Given the description of an element on the screen output the (x, y) to click on. 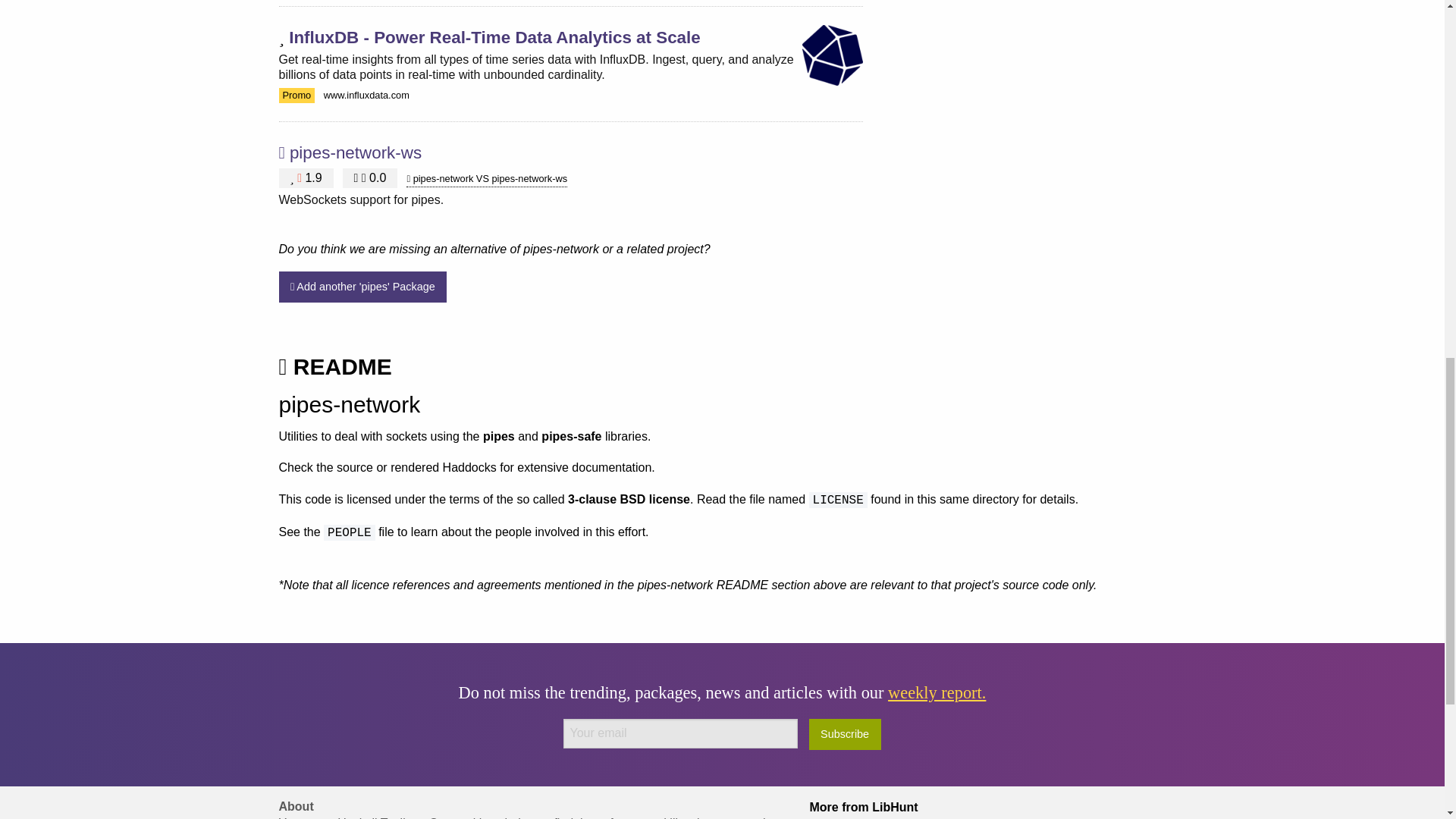
Subscribe (844, 734)
pipes-network VS pipes-network-ws (486, 179)
InfluxDB - Power Real-Time Data Analytics at Scale (494, 36)
InfluxDB Logo (832, 55)
pipes-network-ws (355, 152)
